Given the description of an element on the screen output the (x, y) to click on. 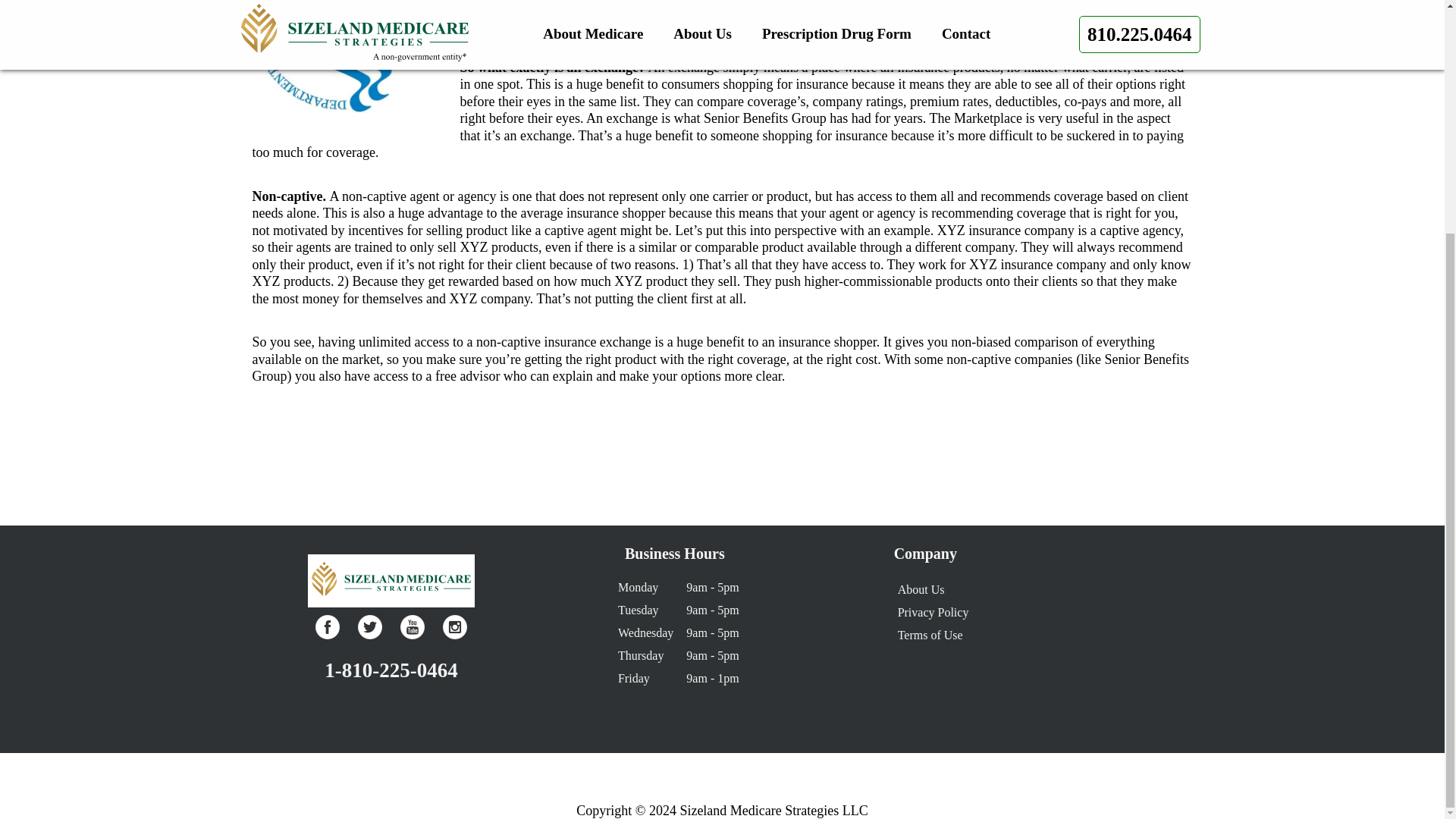
Privacy Policy (933, 612)
Terms of Use (930, 634)
About Us (921, 589)
